Given the description of an element on the screen output the (x, y) to click on. 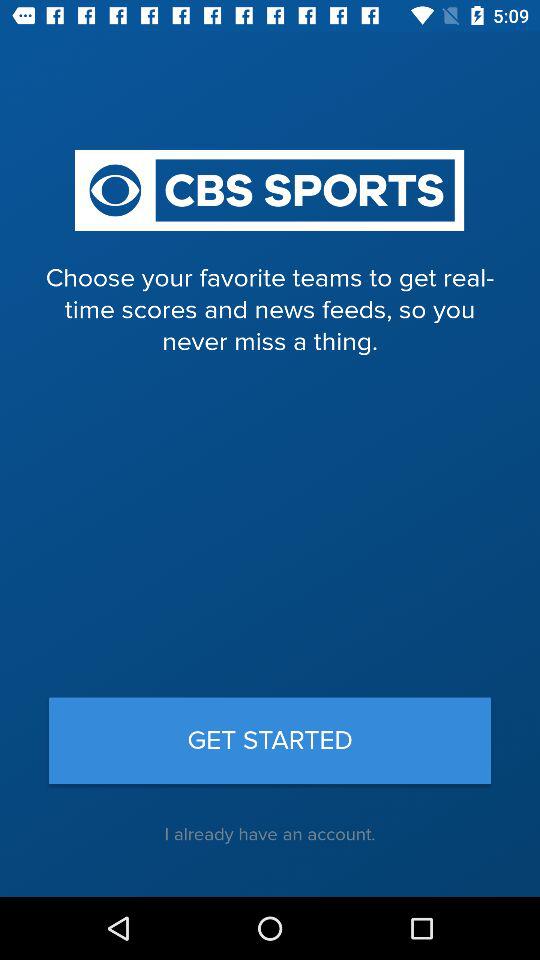
press icon below get started icon (269, 834)
